Given the description of an element on the screen output the (x, y) to click on. 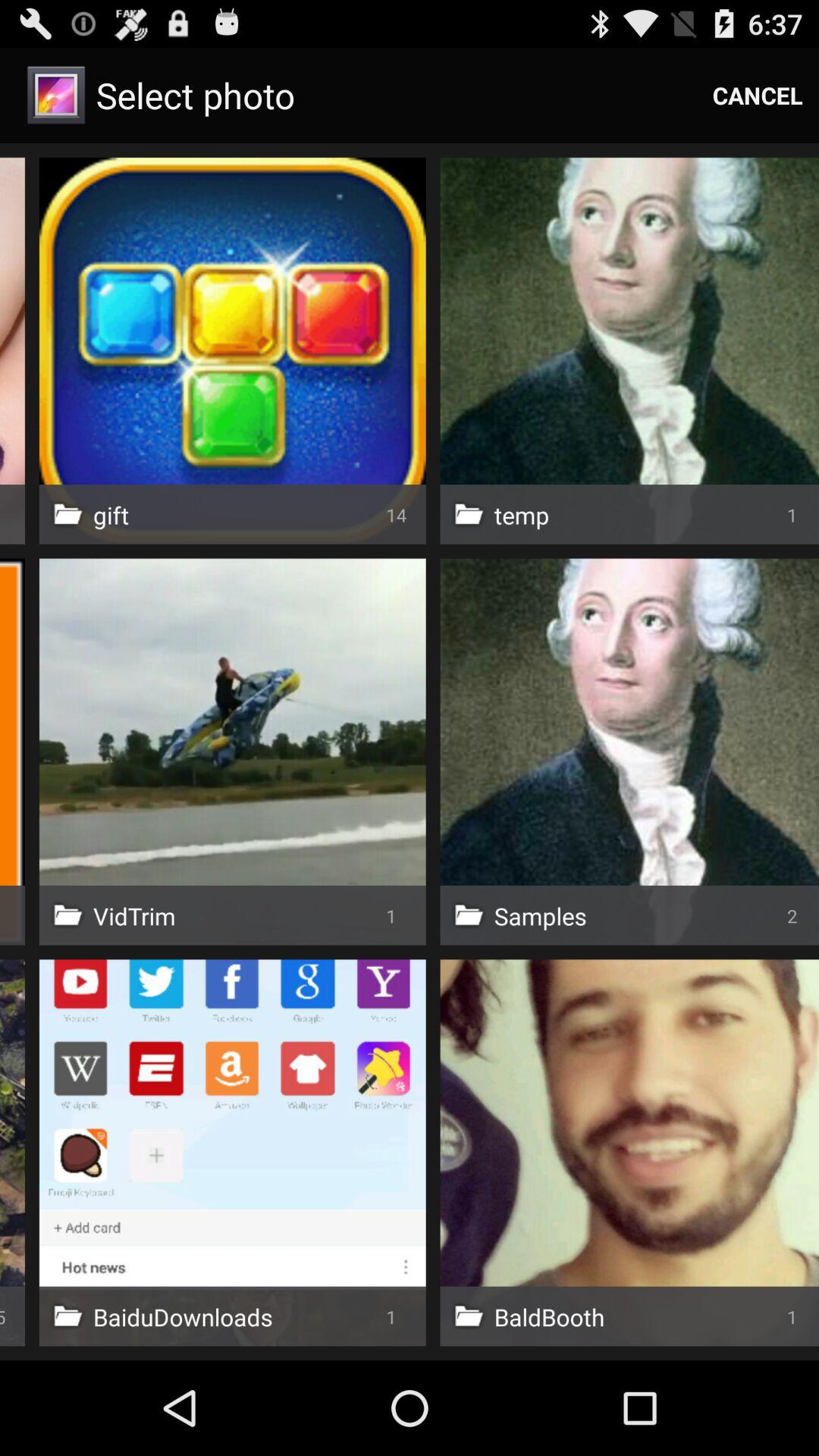
flip to cancel icon (757, 95)
